Given the description of an element on the screen output the (x, y) to click on. 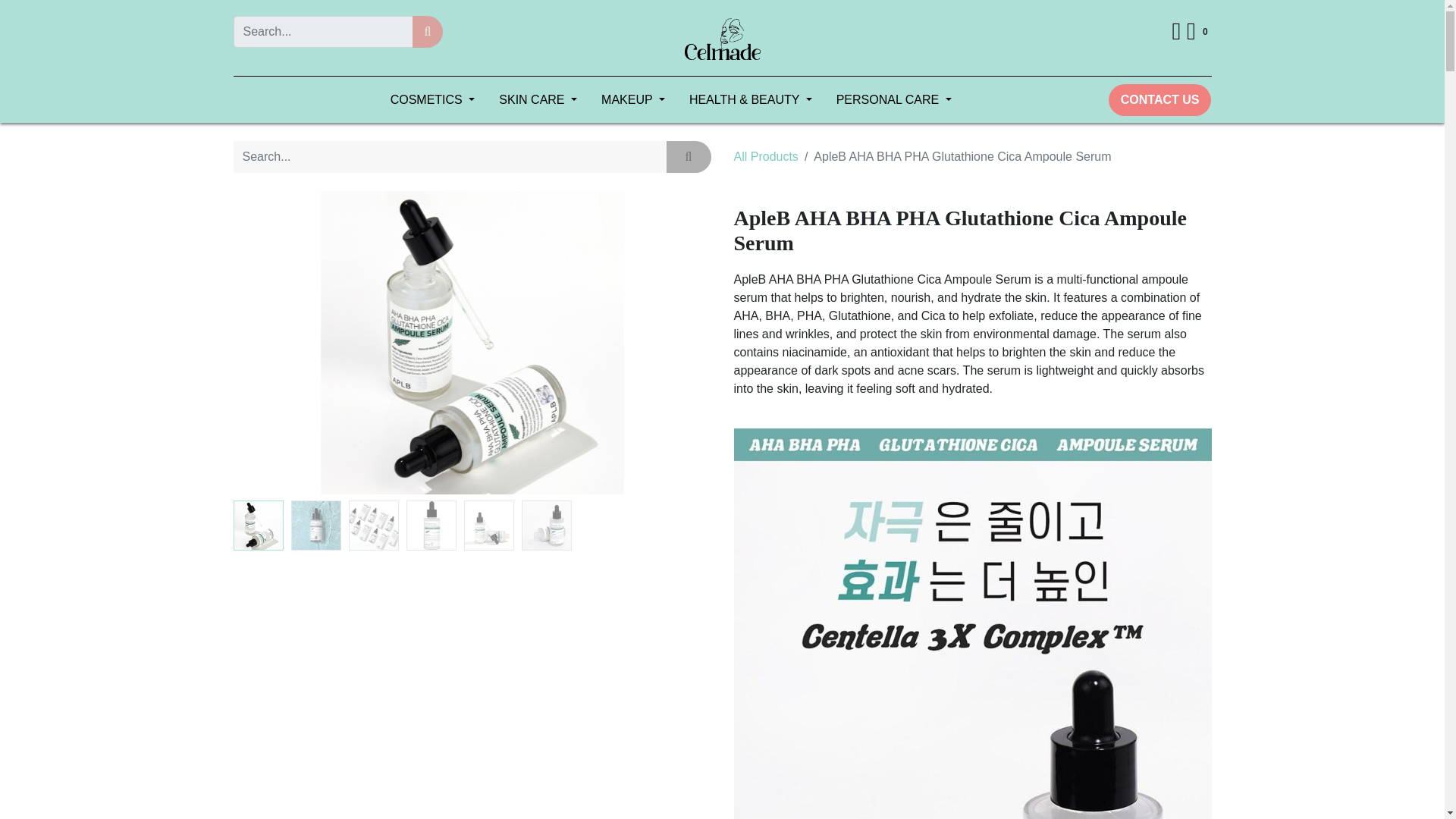
Search (688, 156)
Search (428, 31)
SKIN CARE (537, 100)
0 (1198, 31)
COSMETICS (432, 100)
MAKEUP (633, 100)
Celmade (722, 38)
